Given the description of an element on the screen output the (x, y) to click on. 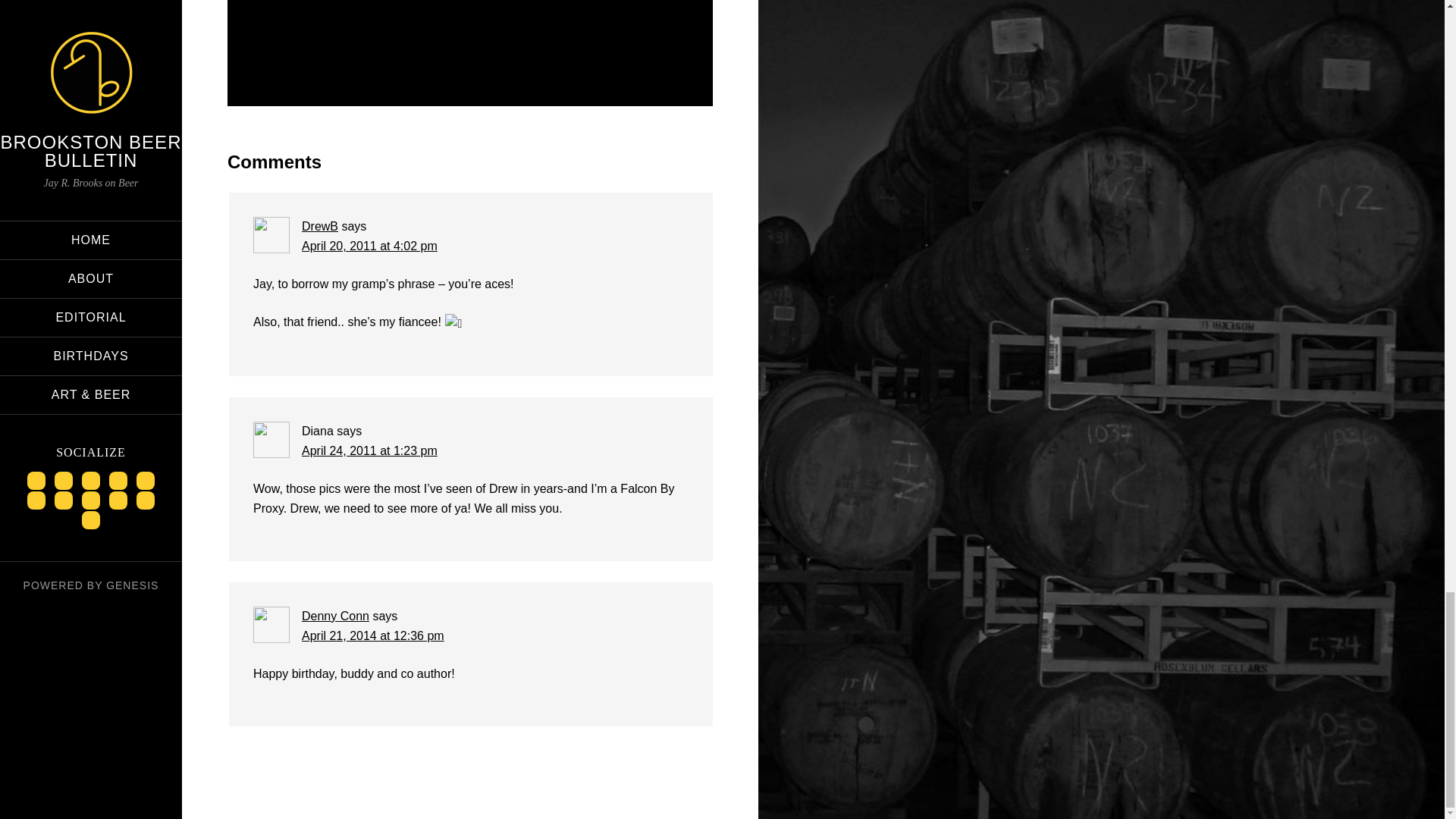
April 20, 2011 at 4:02 pm (369, 245)
April 21, 2014 at 12:36 pm (372, 635)
Denny Conn (335, 615)
DrewB (319, 226)
April 24, 2011 at 1:23 pm (369, 450)
Advertisement (469, 34)
